Given the description of an element on the screen output the (x, y) to click on. 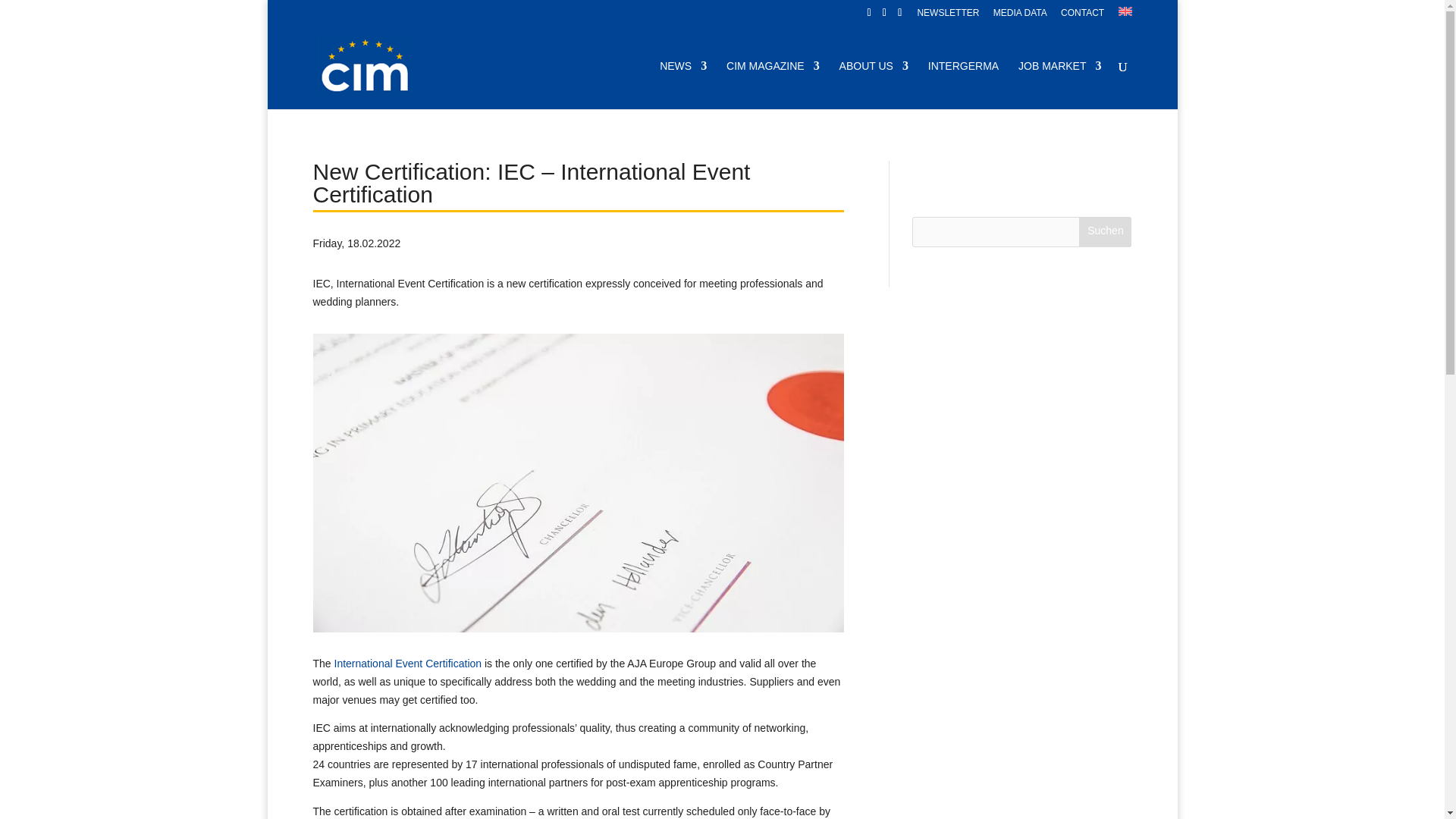
NEWSLETTER (947, 16)
CONTACT (1082, 16)
JOB MARKET (1058, 84)
MEDIA DATA (1019, 16)
ABOUT US (874, 84)
International Event Certification (407, 663)
INTERGERMA (963, 84)
NEWS (682, 84)
CIM MAGAZINE (772, 84)
